Given the description of an element on the screen output the (x, y) to click on. 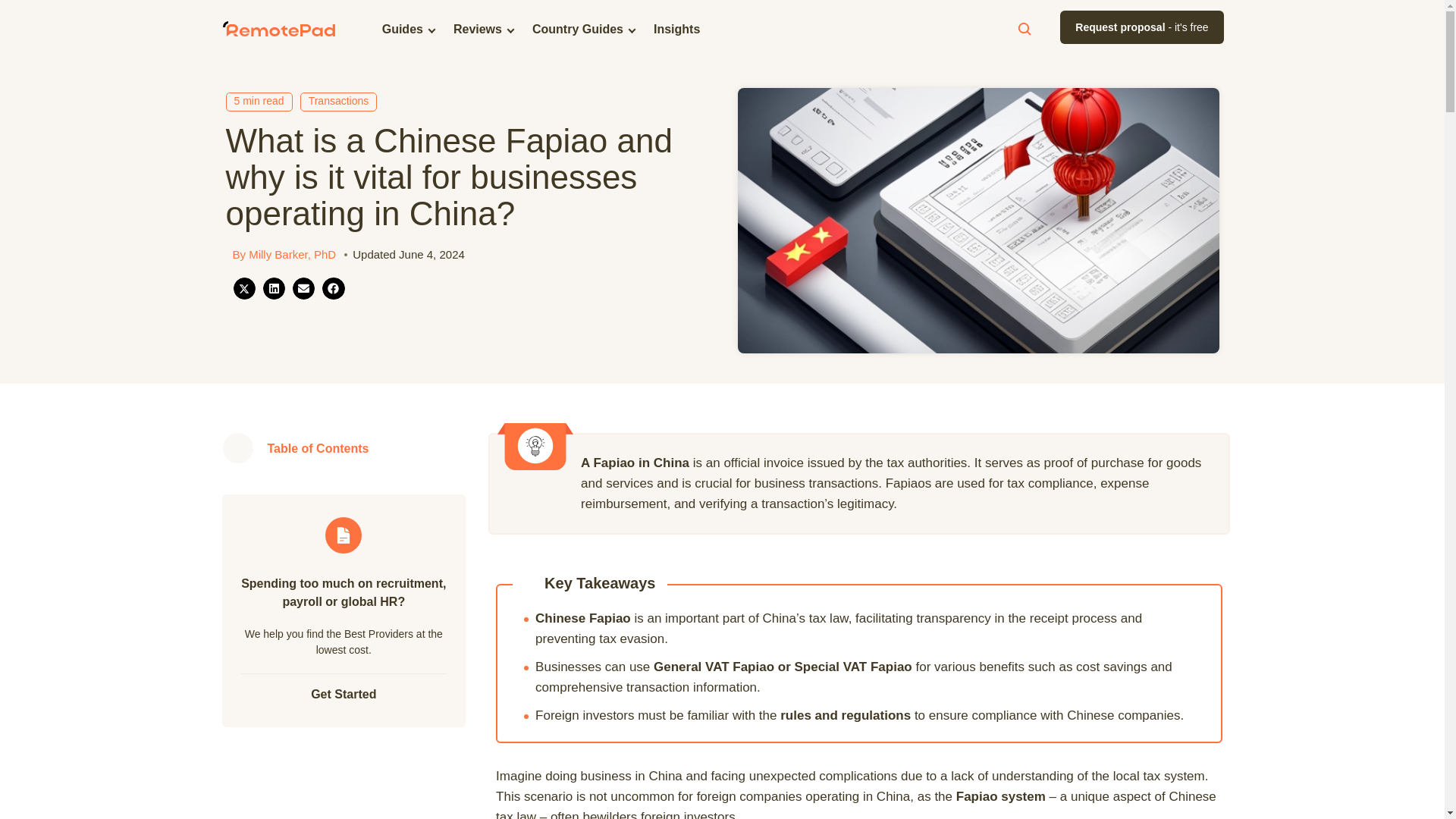
Country Guides (577, 28)
Insights (676, 28)
Guides (402, 28)
Reviews (477, 28)
